Given the description of an element on the screen output the (x, y) to click on. 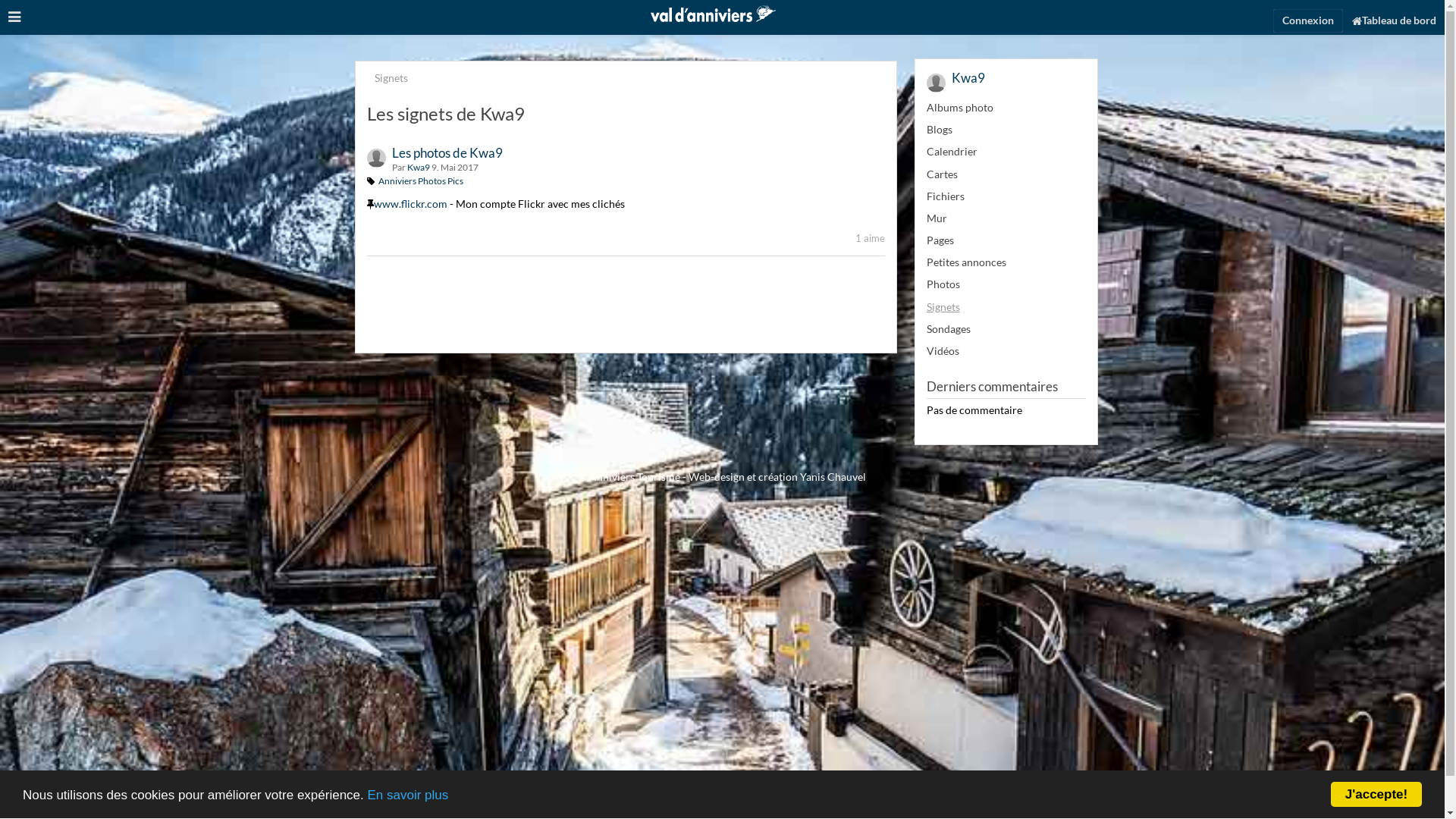
Anniviers Photos Pics Element type: text (419, 180)
www.flickr.com Element type: text (409, 203)
Tableau de bord Element type: text (1394, 18)
J'accepte! Element type: text (1375, 793)
Pages Element type: text (1005, 240)
Mur Element type: text (1005, 218)
Calendrier Element type: text (1005, 151)
Kwa9 Element type: hover (376, 157)
Signets Element type: text (1005, 307)
Kwa9 Element type: text (417, 166)
Fichiers Element type: text (1005, 196)
Signets Element type: text (390, 77)
Sondages Element type: text (1005, 329)
Blogs Element type: text (1005, 129)
Kwa9 Element type: text (968, 77)
Albums photo Element type: text (1005, 107)
Photos Element type: text (1005, 284)
En savoir plus Element type: text (407, 794)
Cartes Element type: text (1005, 174)
Les photos de Kwa9 Element type: text (446, 153)
Kwa9 Element type: hover (935, 82)
Connexion Element type: text (1308, 20)
1 aime Element type: text (869, 238)
Petites annonces Element type: text (1005, 262)
